Given the description of an element on the screen output the (x, y) to click on. 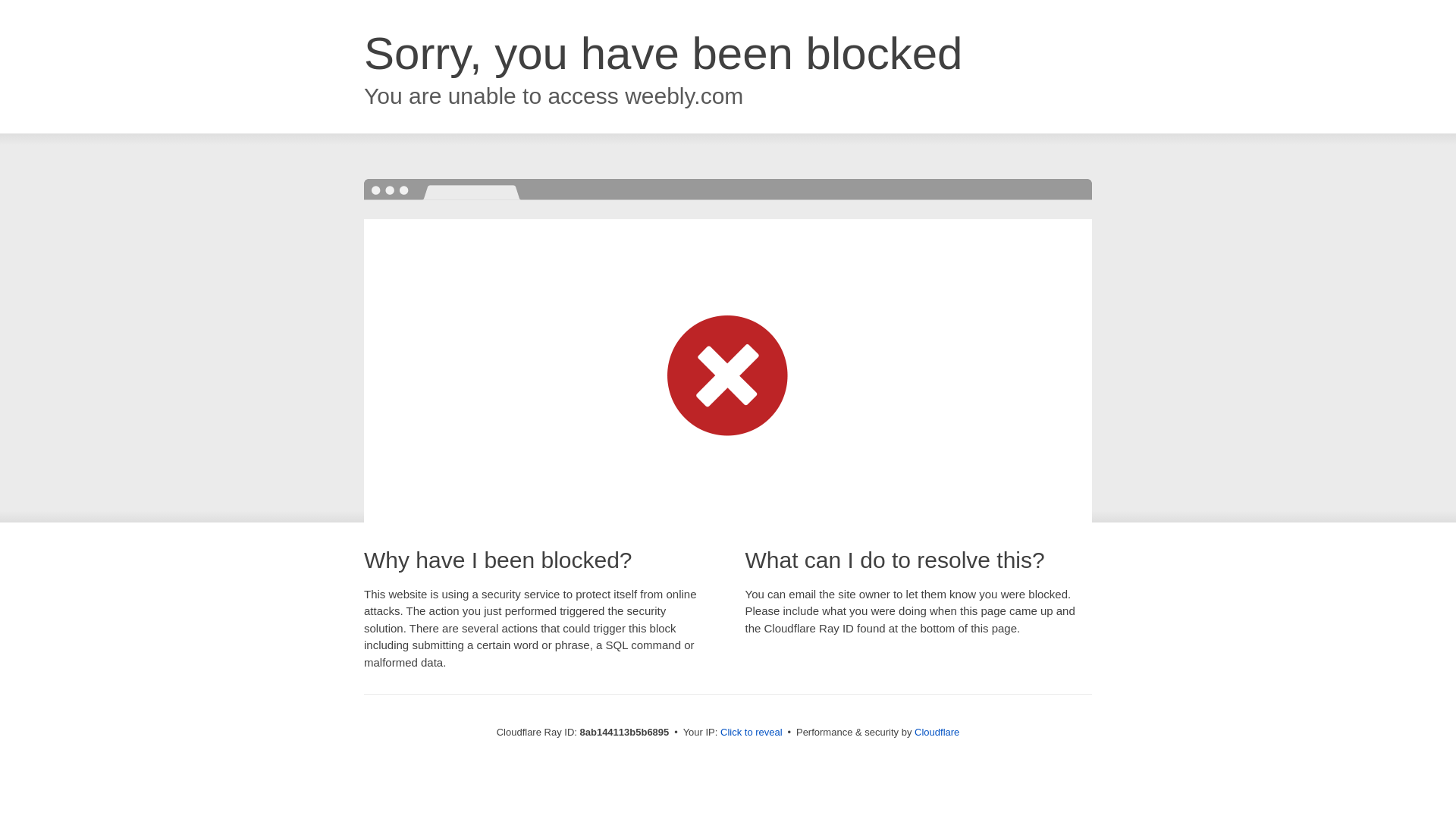
Cloudflare (936, 731)
Click to reveal (751, 732)
